Given the description of an element on the screen output the (x, y) to click on. 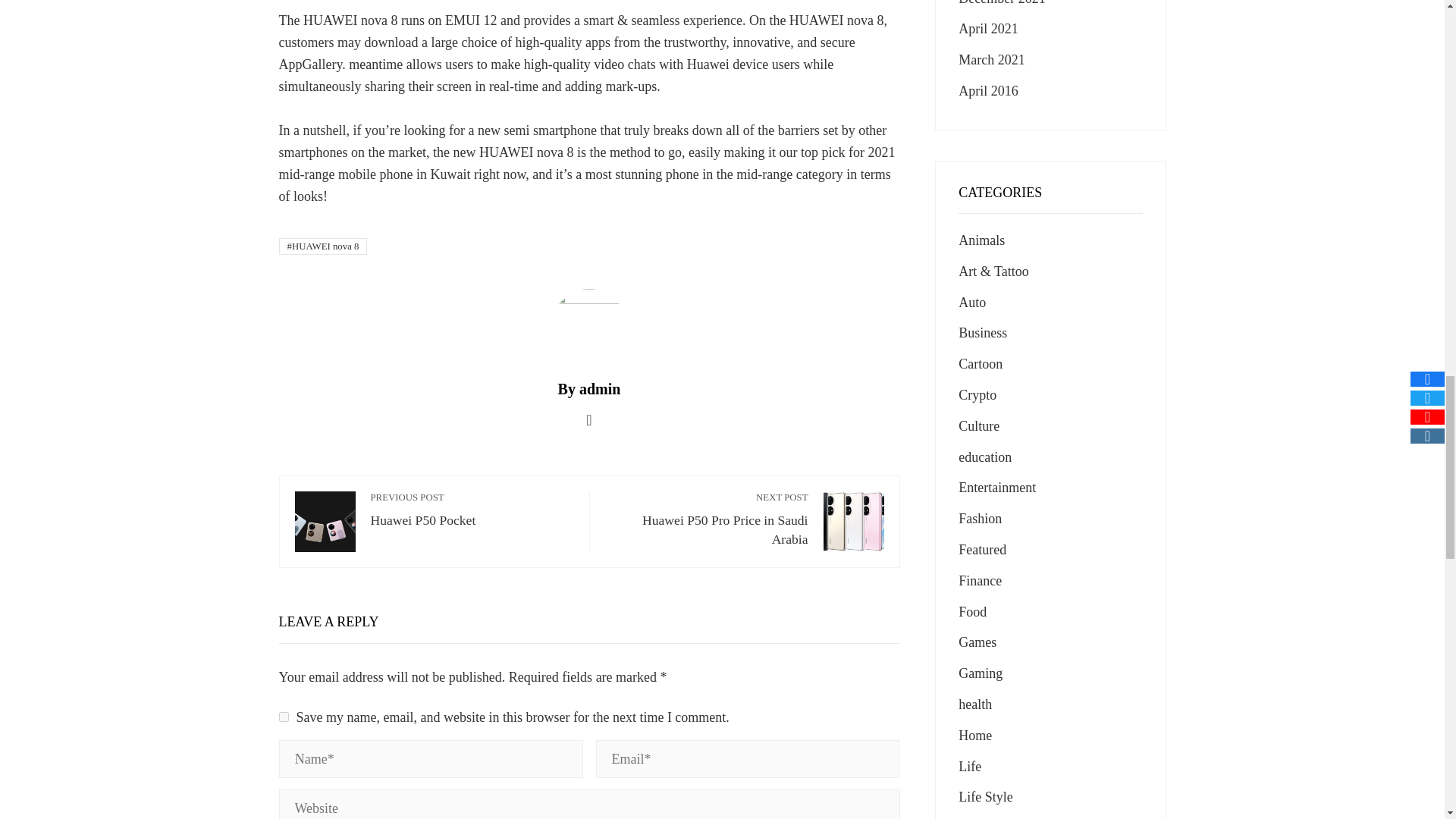
HUAWEI nova 8 (471, 509)
yes (323, 246)
